Given the description of an element on the screen output the (x, y) to click on. 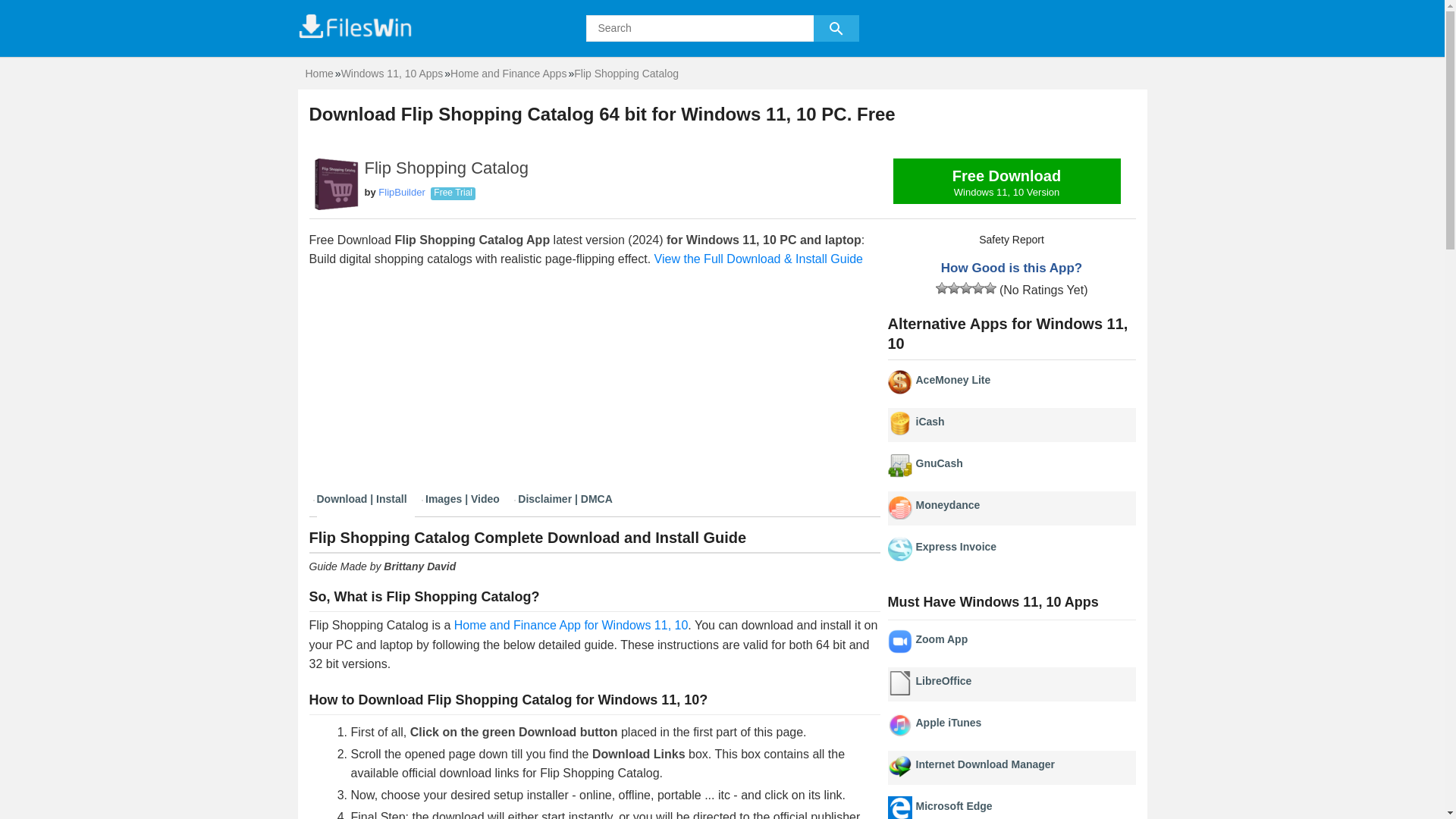
Flip Shopping Catalog Free Download for Windows 11, 10 (1007, 185)
2 Stars (953, 287)
Home and Finance App for Windows 11, 10 (571, 625)
AceMoney Lite (953, 379)
Express Invoice (956, 546)
GnuCash (1007, 180)
iCash (938, 463)
1 Star (929, 421)
Safety Report (941, 287)
Apple iTunes (1010, 239)
Microsoft Edge (948, 722)
Flip Shopping Catalog (953, 806)
Home and Finance App for Windows 11, 10 (625, 73)
Internet Download Manager (571, 625)
